Given the description of an element on the screen output the (x, y) to click on. 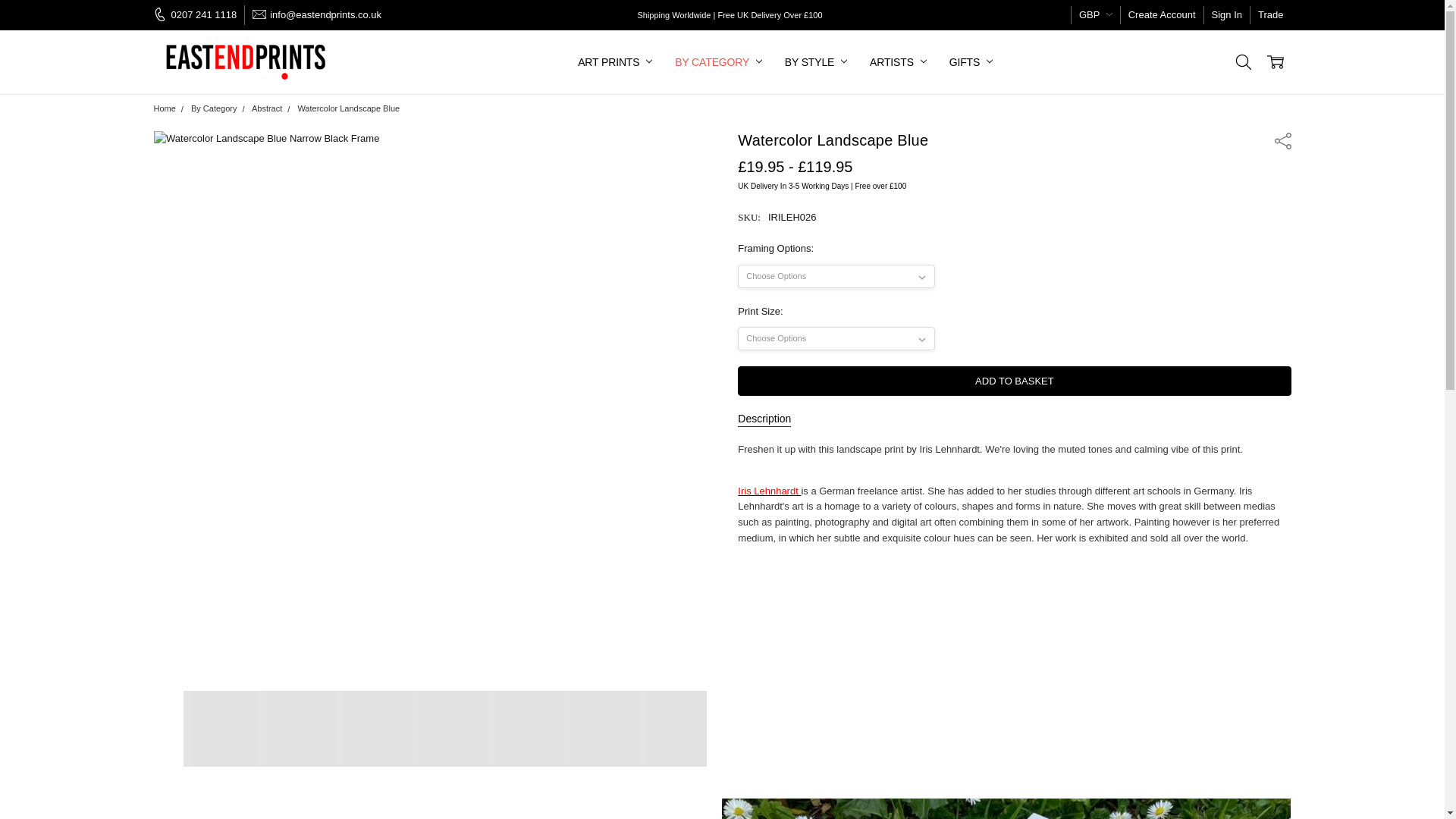
BY CATEGORY (718, 62)
Watercolor Landscape Blue Narrow White Frame (676, 728)
Watercolor Landscape Blue Wide Oak Frame (600, 728)
Watercolor Landscape Blue Wide Black Frame (372, 728)
Watercolor Landscape Blue Narrow Oak Frame (448, 728)
Add to Basket (1014, 380)
Create Account (1162, 15)
ART PRINTS (614, 62)
Watercolor Landscape Blue Narrow Black Frame (221, 728)
Watercolor Landscape Blue Medium Oak Frame (524, 728)
